Given the description of an element on the screen output the (x, y) to click on. 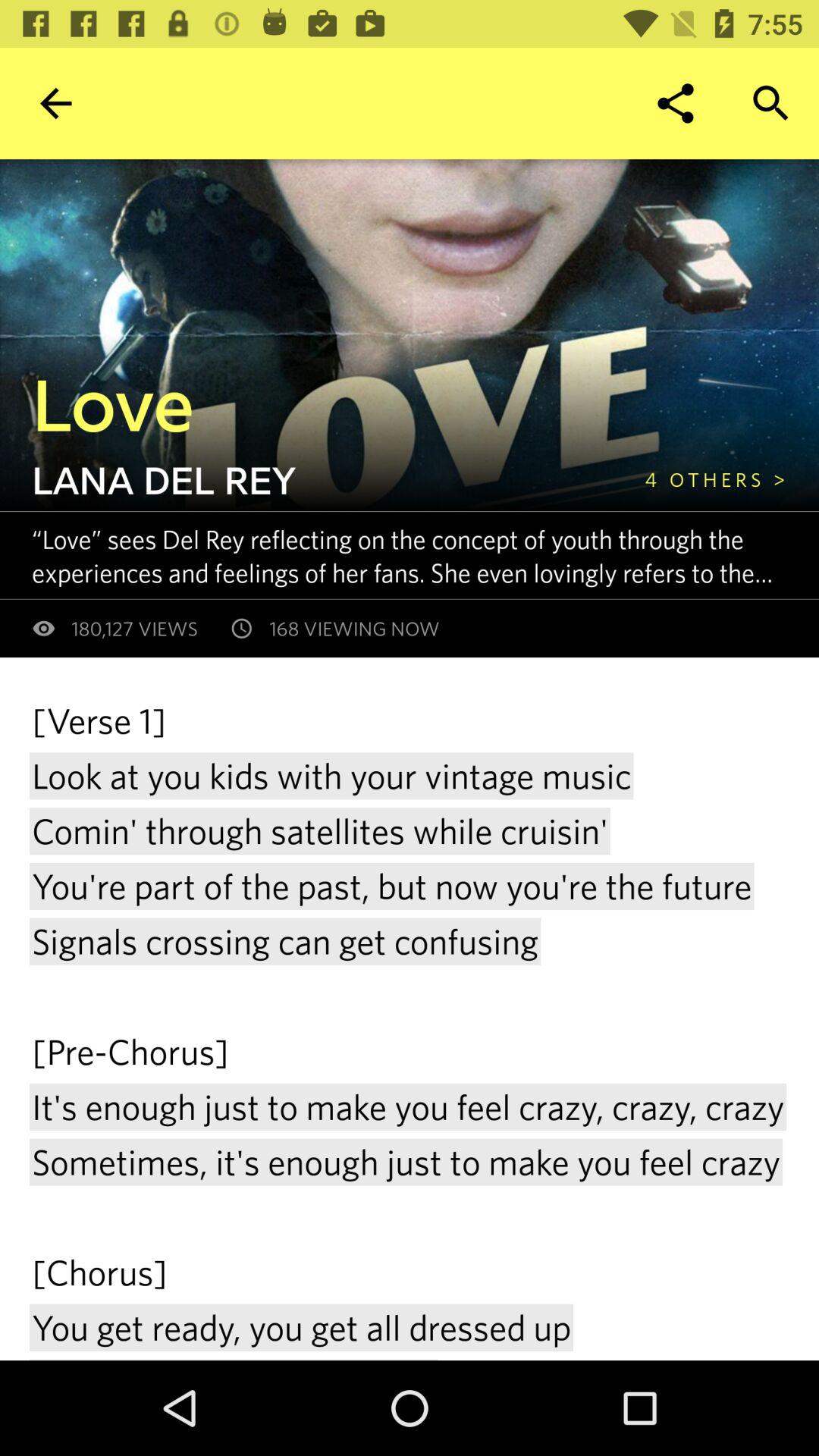
swipe to 4 others > item (715, 479)
